Given the description of an element on the screen output the (x, y) to click on. 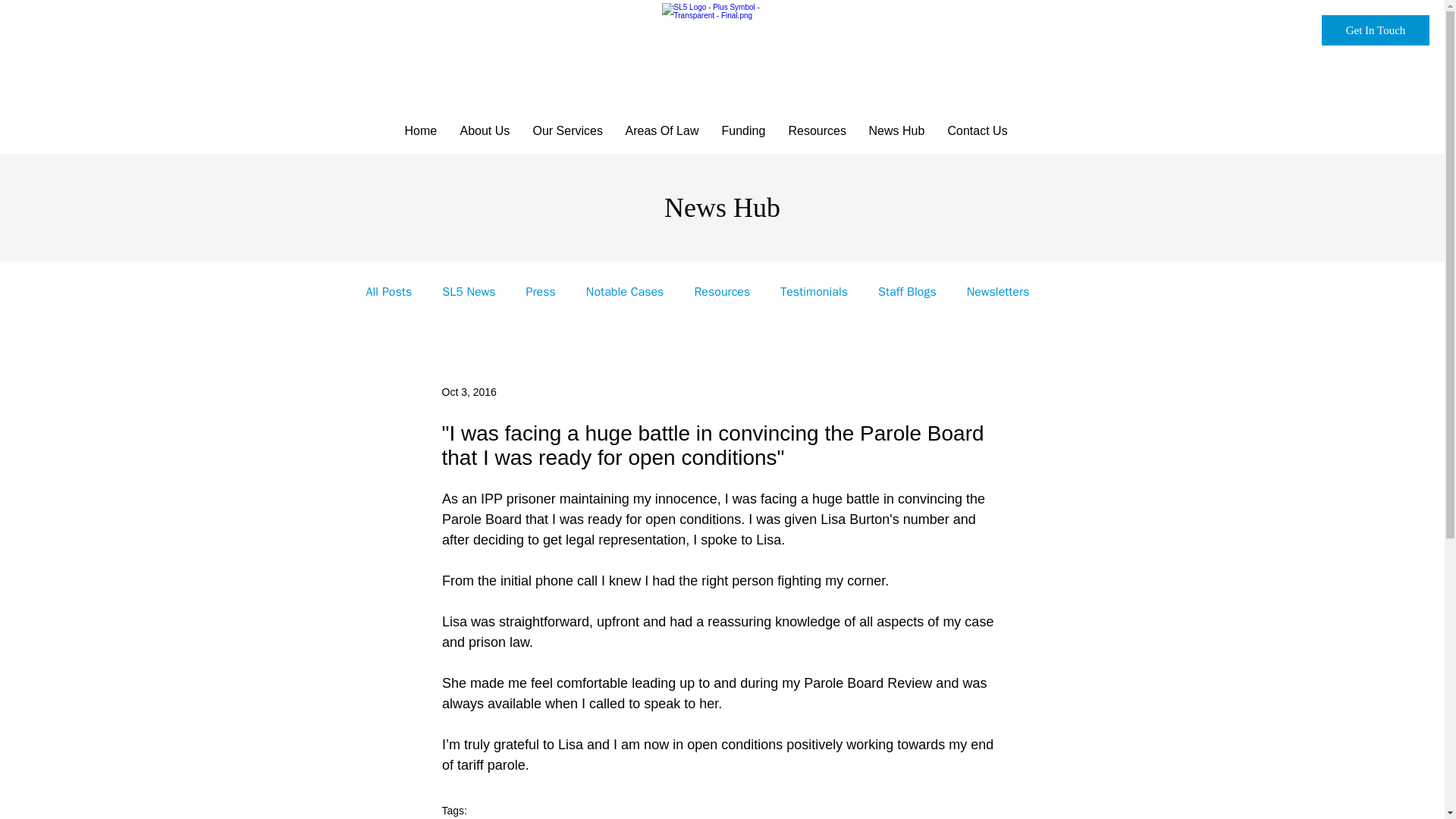
All Posts (388, 291)
News Hub (896, 130)
Resources (721, 291)
Contact Us (976, 130)
Areas Of Law (662, 130)
Staff Blogs (906, 291)
SL5 News (468, 291)
Oct 3, 2016 (468, 390)
Press (540, 291)
Newsletters (997, 291)
Home (420, 130)
Testimonials (813, 291)
Get In Touch (1375, 30)
Notable Cases (624, 291)
